Given the description of an element on the screen output the (x, y) to click on. 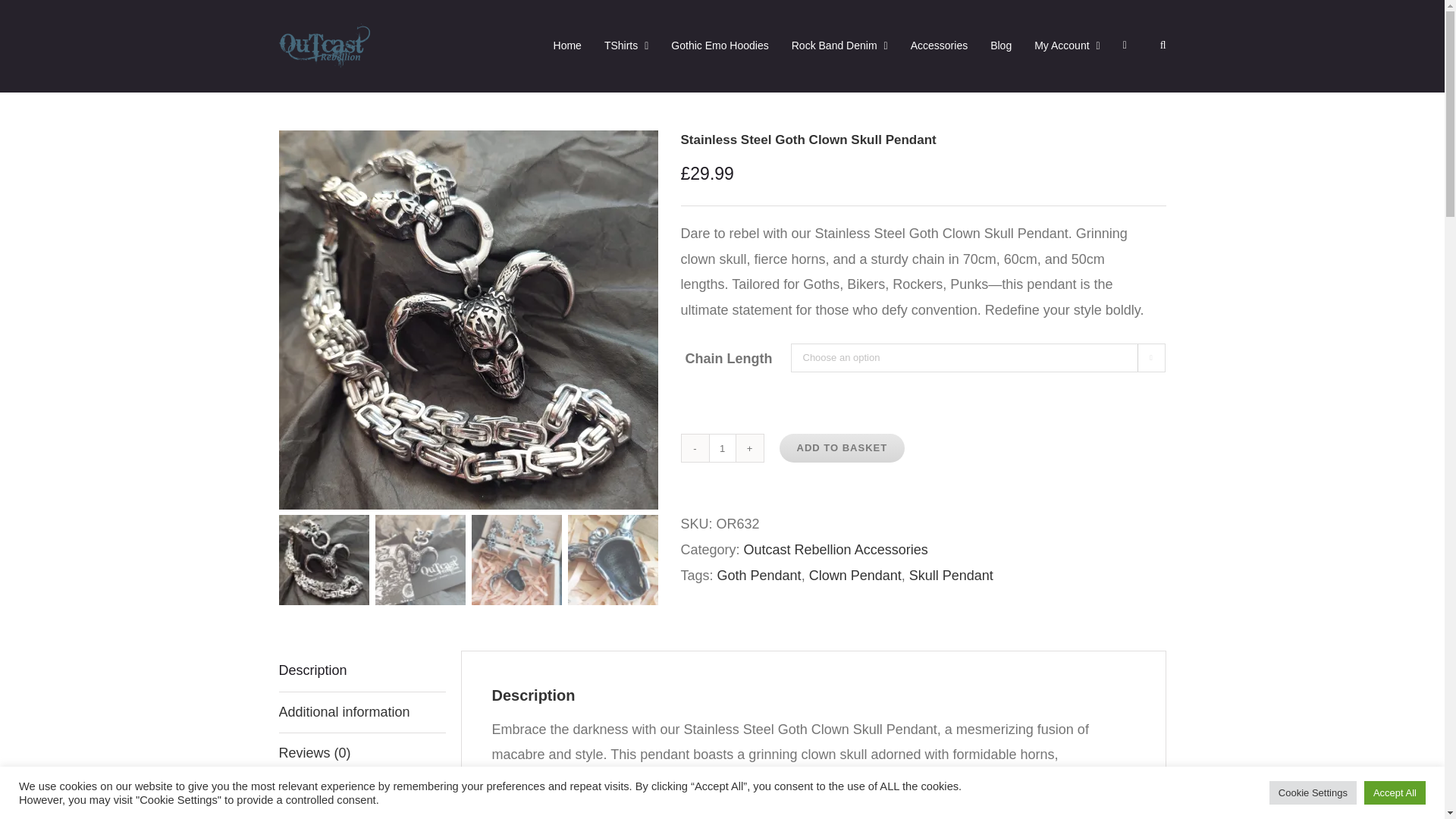
Gothic Emo Hoodies (719, 45)
Blog (1000, 45)
- (694, 447)
TShirts (625, 45)
Rock Band Denim (840, 45)
Stainless Steel Goth Clown Skull Pendant 01 (139, 319)
My Account (1066, 45)
Accessories (939, 45)
Home (566, 45)
1 (721, 447)
Gothic Celtic Emo Hoodies (719, 45)
